Given the description of an element on the screen output the (x, y) to click on. 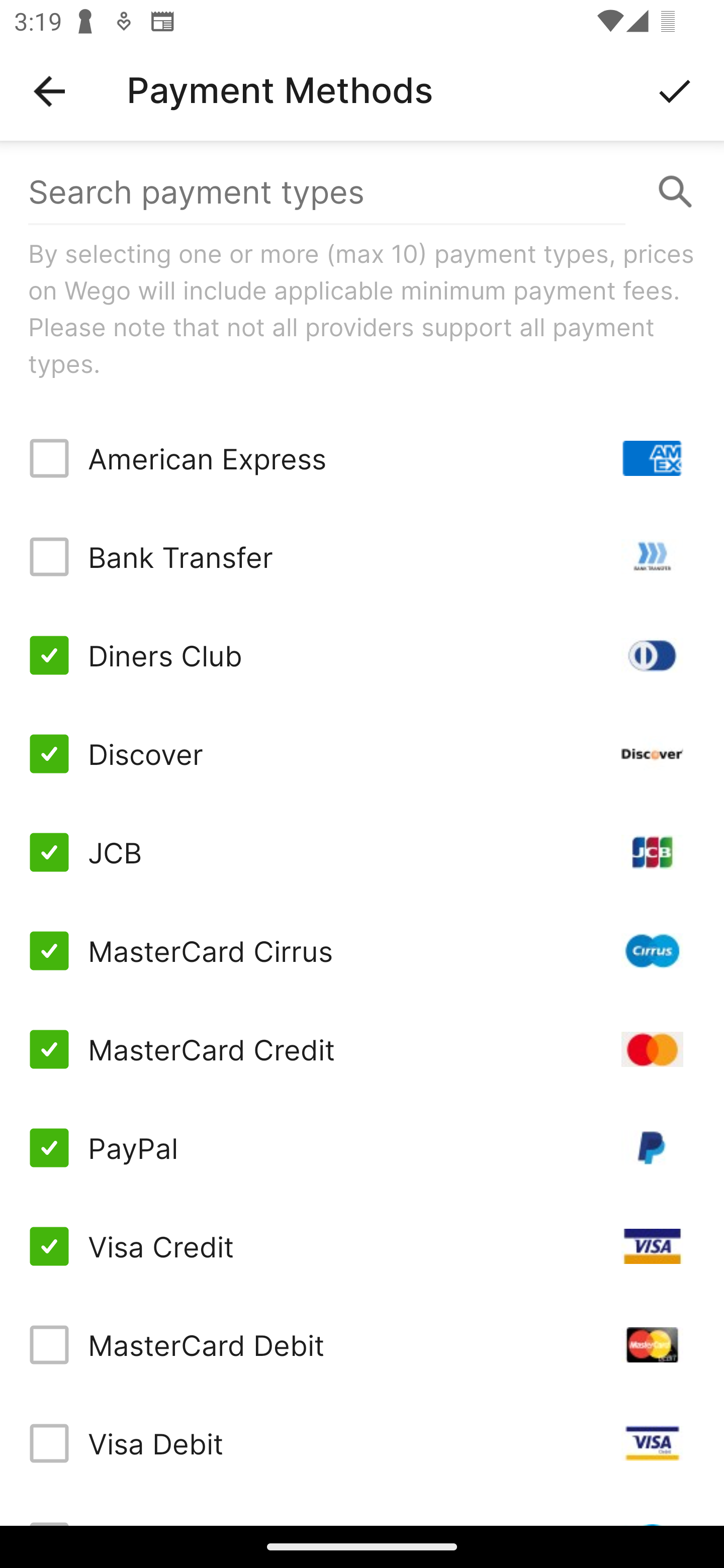
Search payment types  (361, 191)
American Express (362, 458)
Bank Transfer (362, 557)
Diners Club (362, 655)
Discover (362, 753)
JCB (362, 851)
MasterCard Cirrus (362, 950)
MasterCard Credit (362, 1049)
PayPal (362, 1147)
Visa Credit (362, 1245)
MasterCard Debit (362, 1344)
Visa Debit (362, 1442)
